Given the description of an element on the screen output the (x, y) to click on. 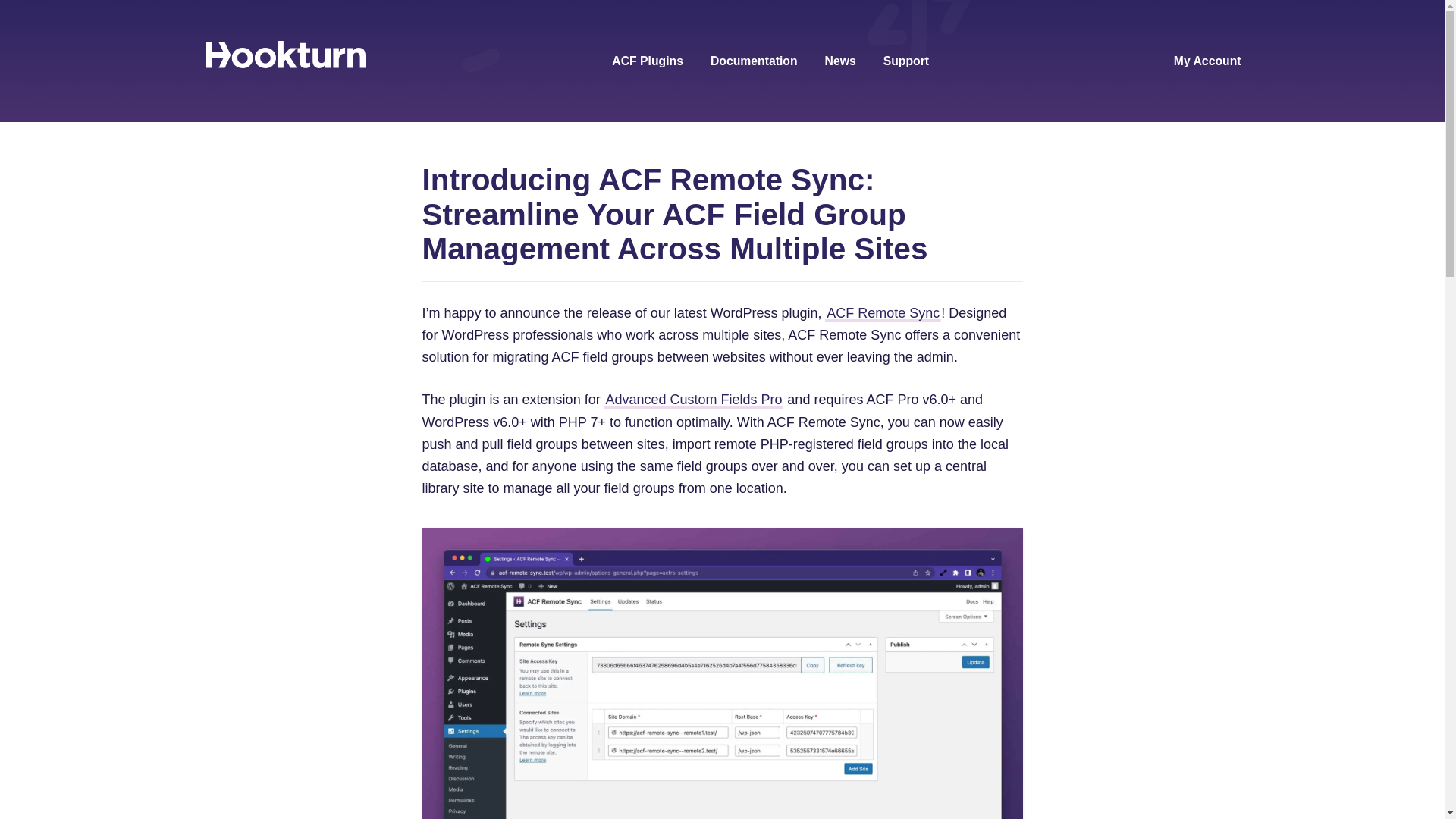
ACF Remote Sync (882, 313)
Advanced Custom Fields Pro (694, 400)
News (840, 62)
Support (905, 62)
Documentation (753, 62)
My Account (1207, 62)
ACF Plugins (646, 62)
